Given the description of an element on the screen output the (x, y) to click on. 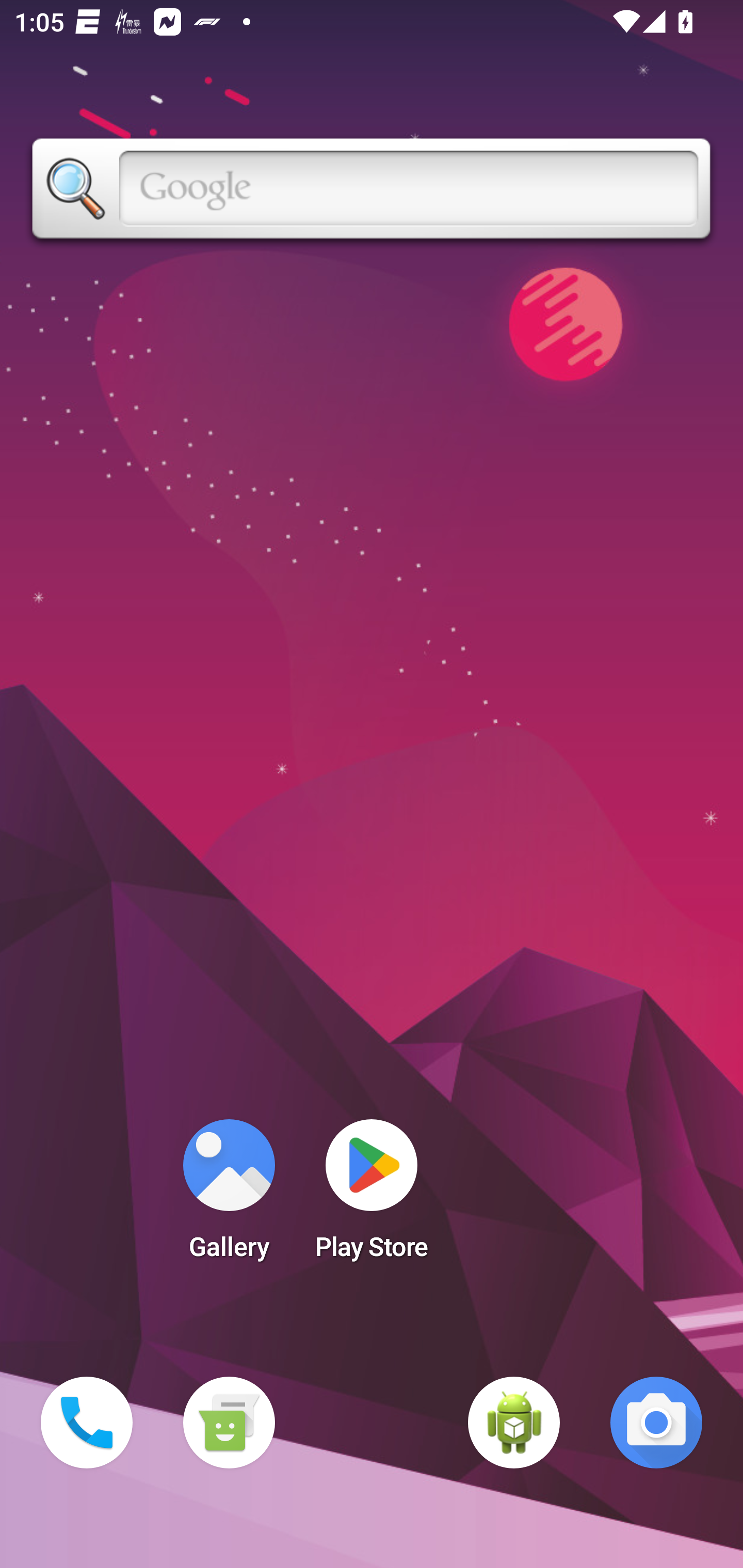
Gallery (228, 1195)
Play Store (371, 1195)
Phone (86, 1422)
Messaging (228, 1422)
WebView Browser Tester (513, 1422)
Camera (656, 1422)
